Given the description of an element on the screen output the (x, y) to click on. 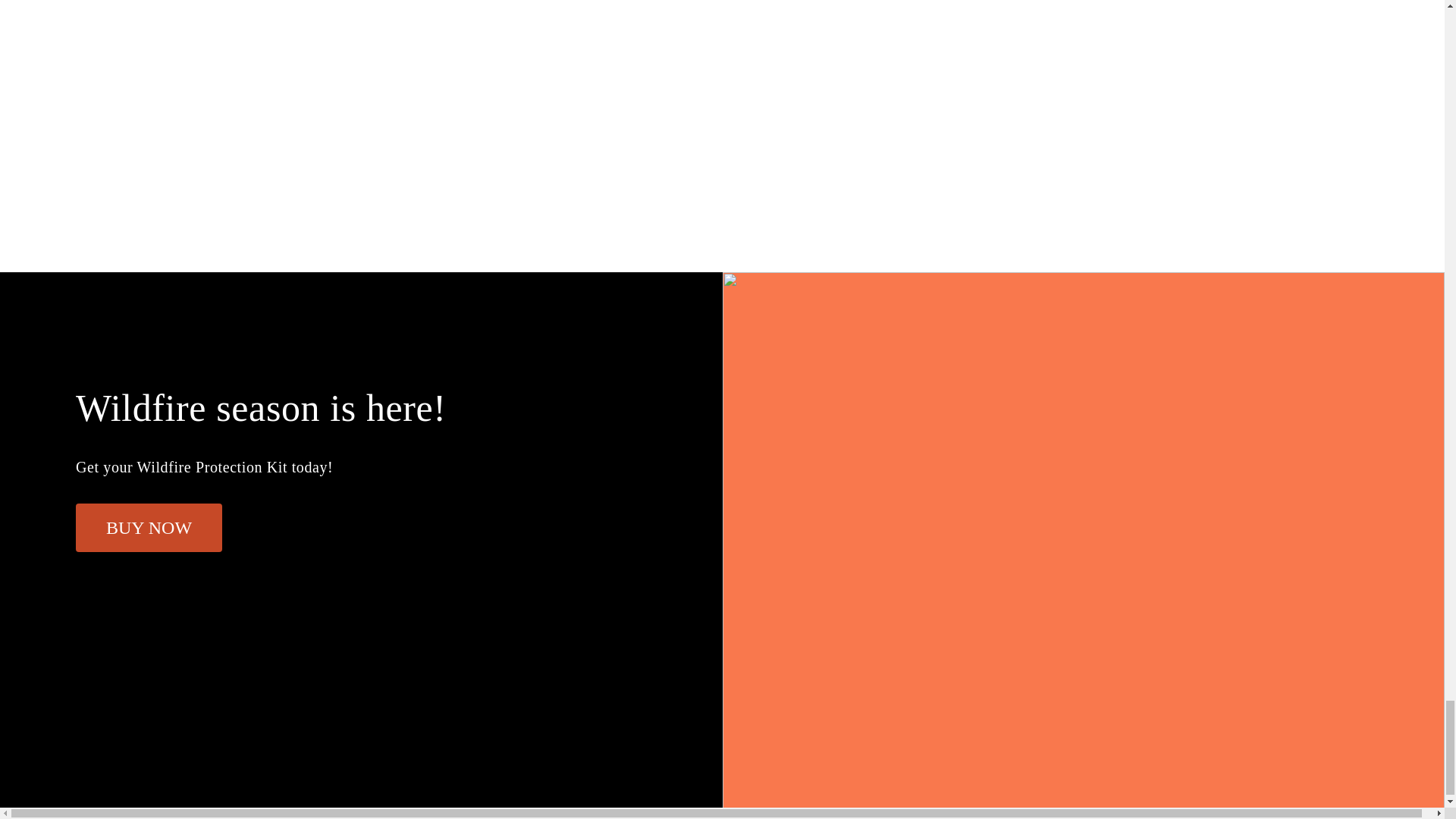
BUY NOW (148, 527)
